Given the description of an element on the screen output the (x, y) to click on. 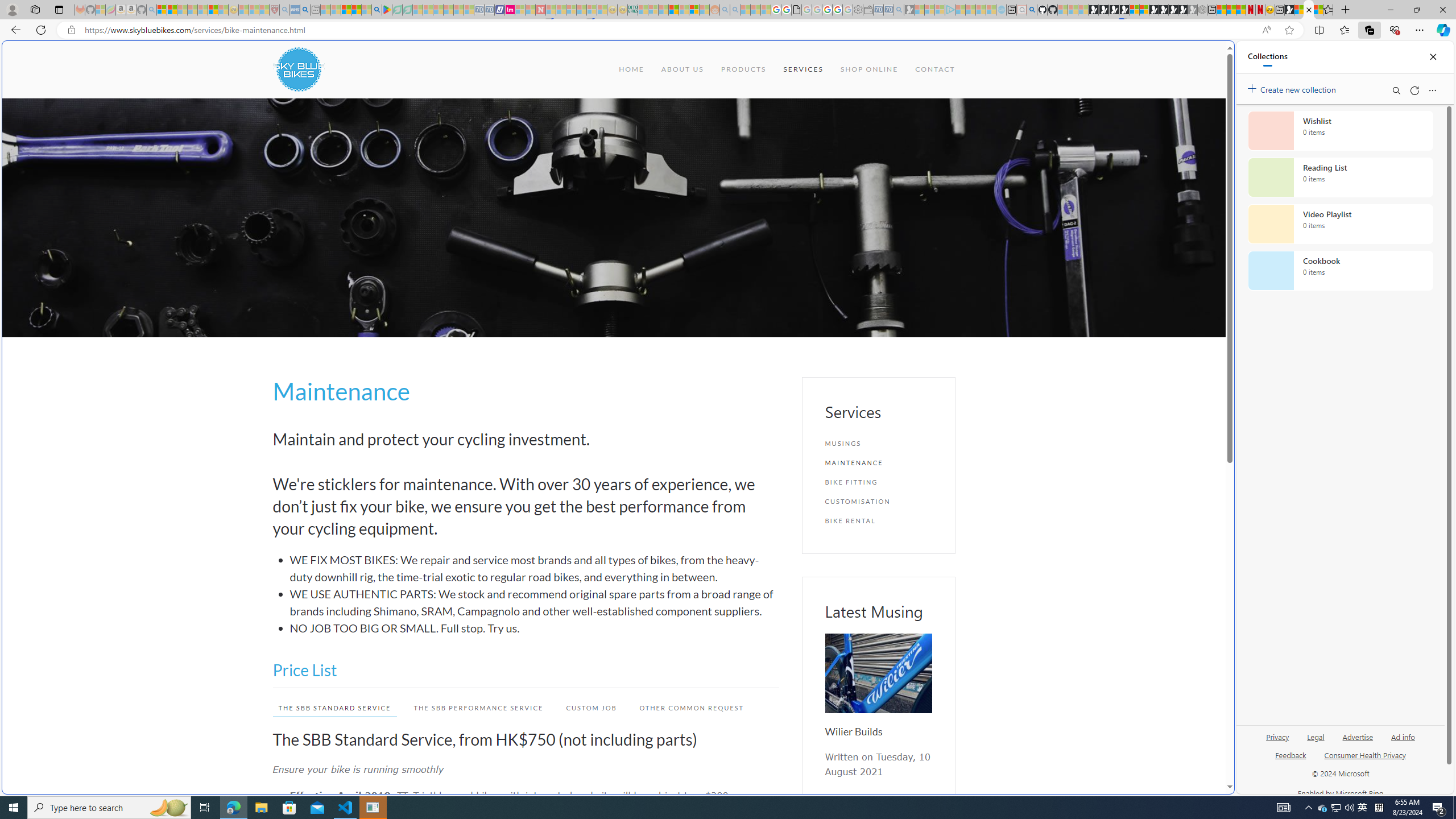
Frequently visited (965, 151)
Cookbook collection, 0 items (1339, 270)
CUSTOM JOB (585, 707)
Overview (1144, 9)
CUSTOMISATION (878, 501)
PRODUCTS (742, 68)
THE SBB STANDARD SERVICE (328, 707)
